Given the description of an element on the screen output the (x, y) to click on. 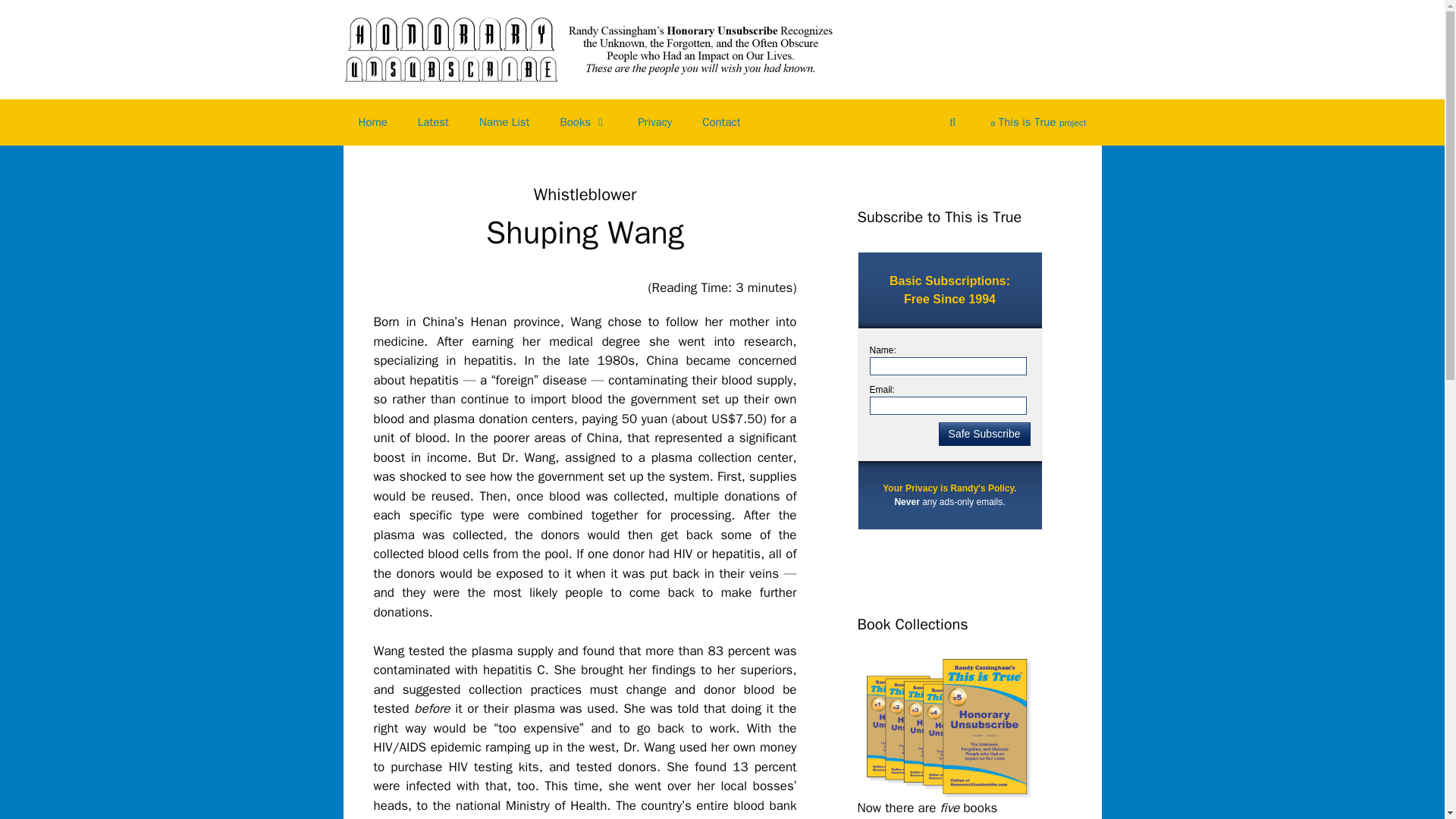
Safe Subscribe (984, 433)
Safe Subscribe (984, 433)
a This is True project (1038, 122)
Name List (504, 121)
Home (371, 121)
Privacy (655, 121)
Contact (721, 121)
Books (583, 121)
Latest (433, 121)
Your Privacy is Randy's Policy. (949, 488)
